Given the description of an element on the screen output the (x, y) to click on. 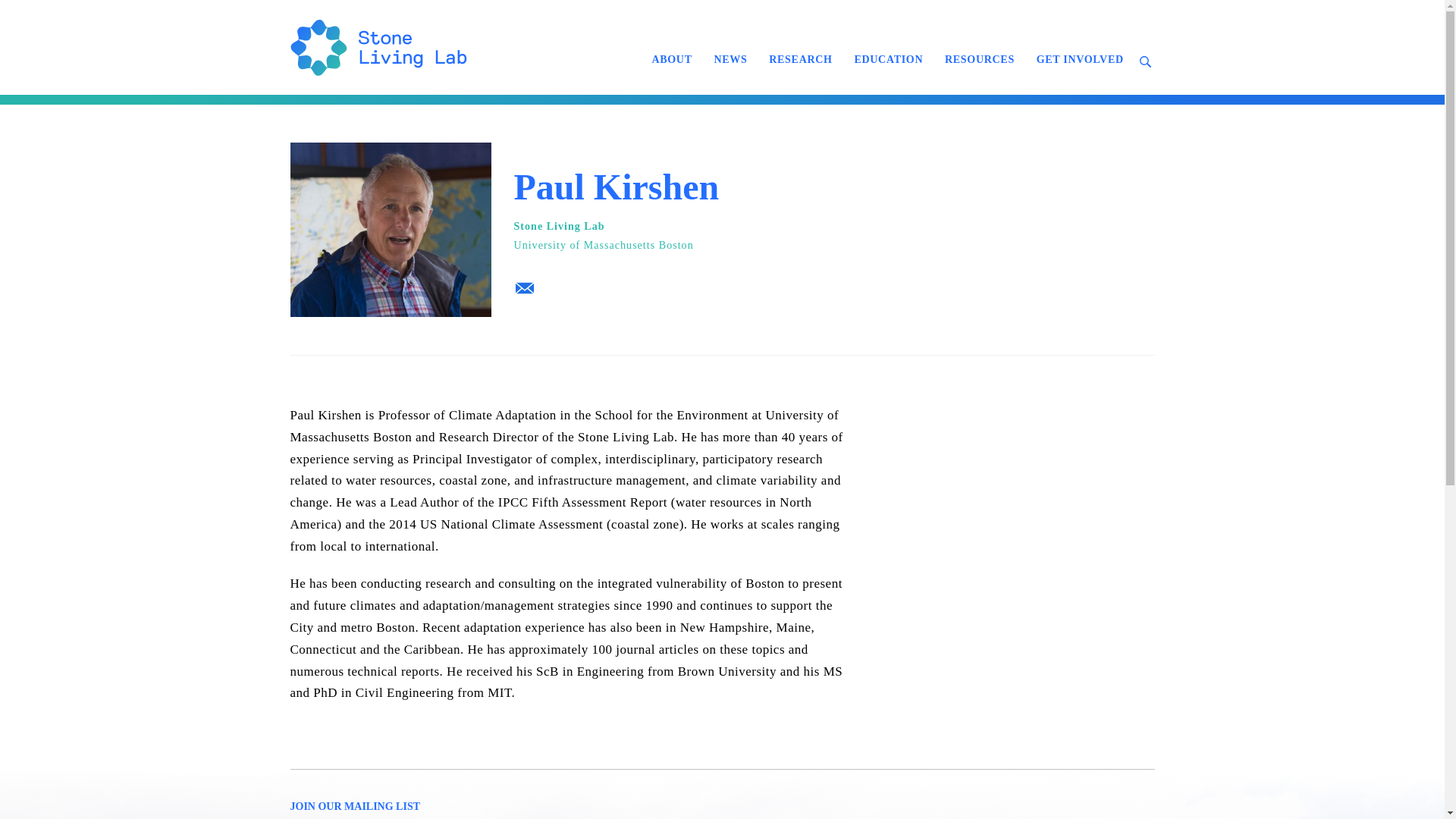
NEWS (729, 59)
RESOURCES (979, 59)
EDUCATION (887, 59)
GET INVOLVED (1079, 59)
RESEARCH (800, 59)
ABOUT (671, 59)
